Given the description of an element on the screen output the (x, y) to click on. 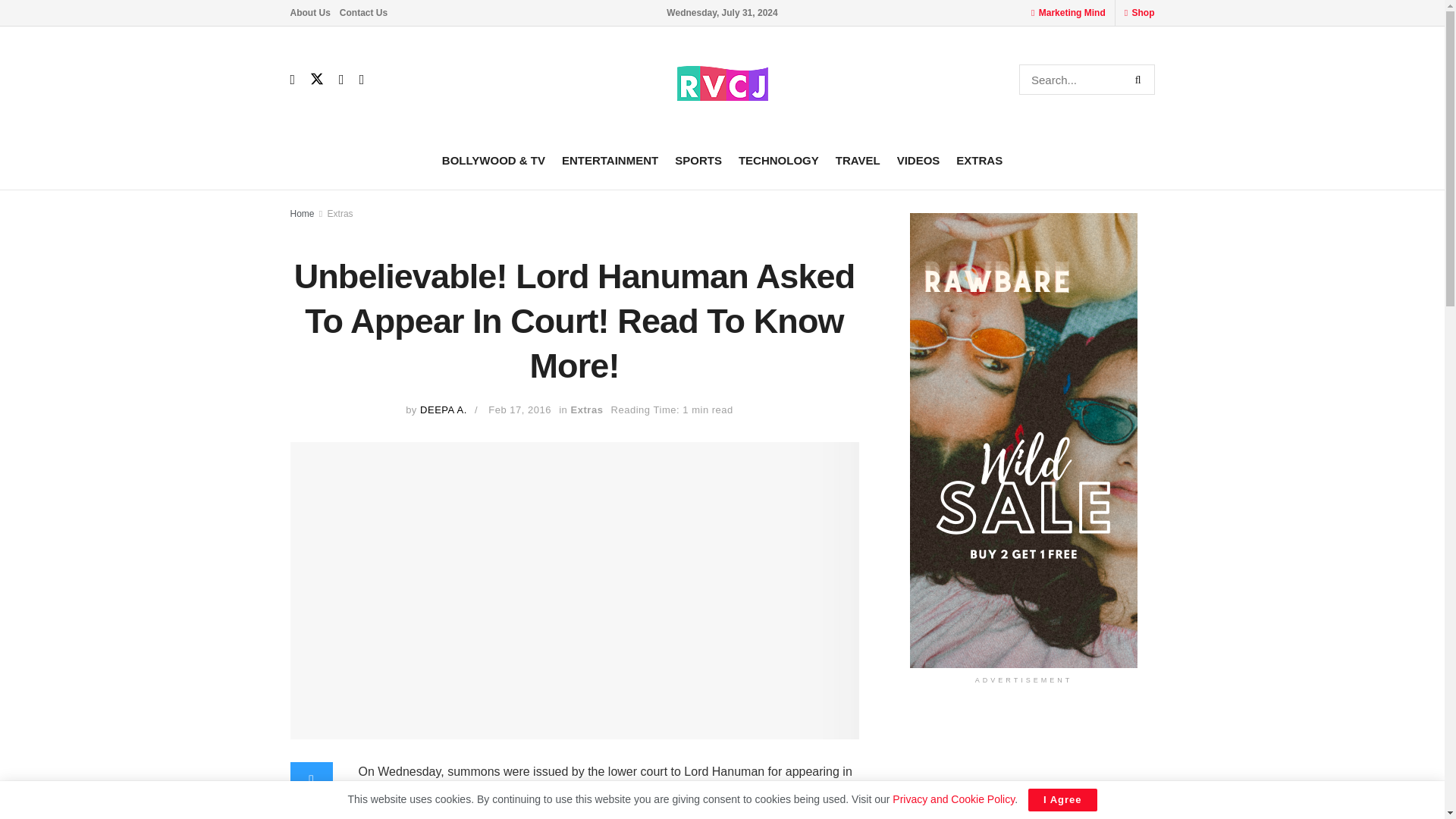
About Us (309, 12)
SPORTS (698, 160)
Contact Us (363, 12)
VIDEOS (918, 160)
EXTRAS (979, 160)
Marketing Mind (1072, 12)
Extras (340, 213)
TRAVEL (857, 160)
Shop (1142, 12)
TECHNOLOGY (778, 160)
Home (301, 213)
DEEPA A. (443, 409)
ENTERTAINMENT (610, 160)
